Given the description of an element on the screen output the (x, y) to click on. 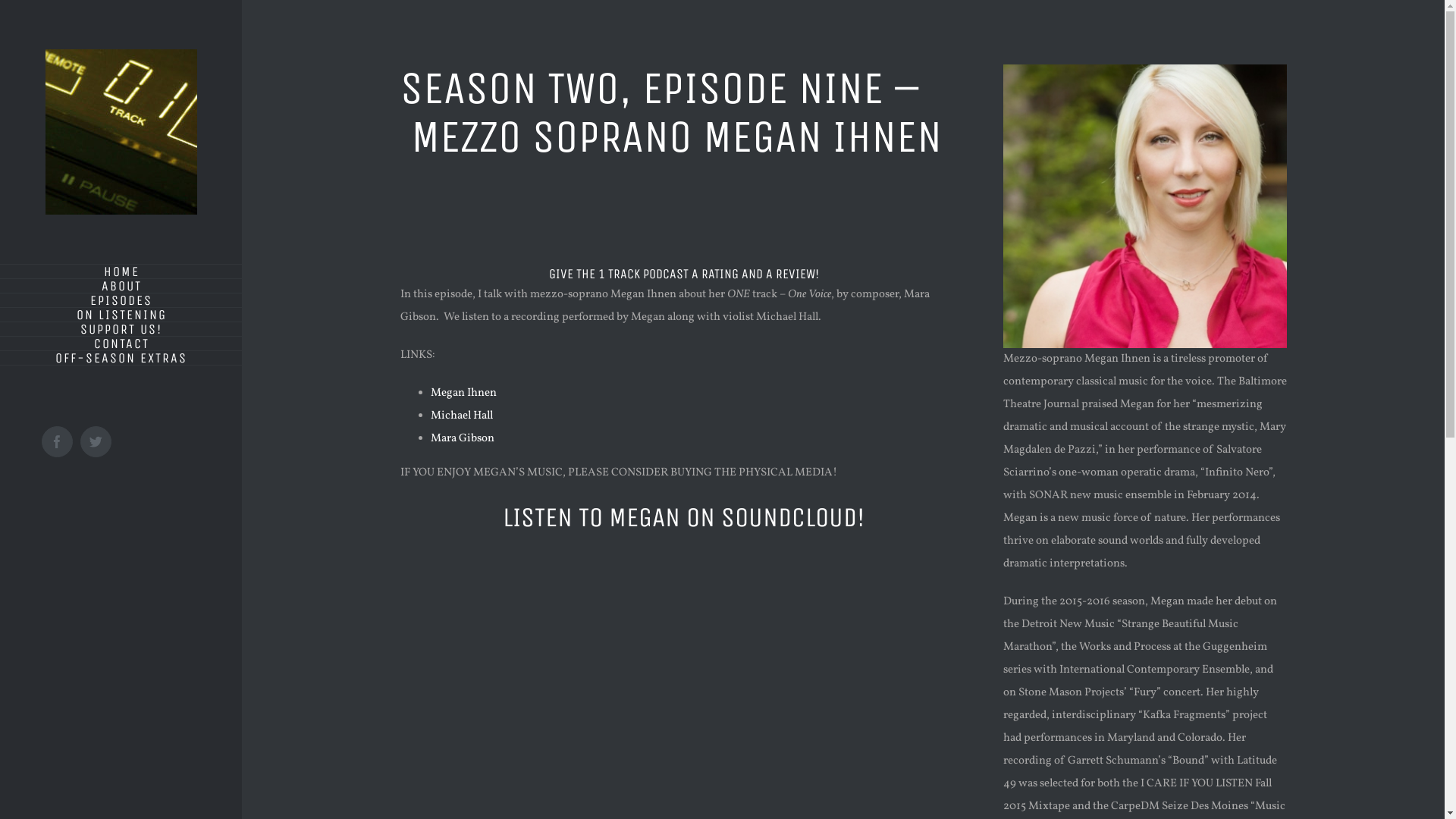
Megan Ihnen Element type: text (463, 393)
HOME Element type: text (121, 271)
ON LISTENING Element type: text (121, 314)
Facebook Element type: text (56, 441)
Twitter Element type: text (95, 441)
soundcloud Element type: hover (684, 599)
GIVE THE 1 TRACK PODCAST A RATING AND A REVIEW! Element type: text (684, 273)
EPISODES Element type: text (121, 300)
Megan_Ihnen Element type: hover (1144, 206)
ABOUT Element type: text (121, 286)
SUPPORT US! Element type: text (121, 329)
OFF-SEASON EXTRAS Element type: text (121, 358)
CONTACT Element type: text (121, 343)
Mara Gibson Element type: text (462, 438)
Michael Hall Element type: text (461, 415)
